Given the description of an element on the screen output the (x, y) to click on. 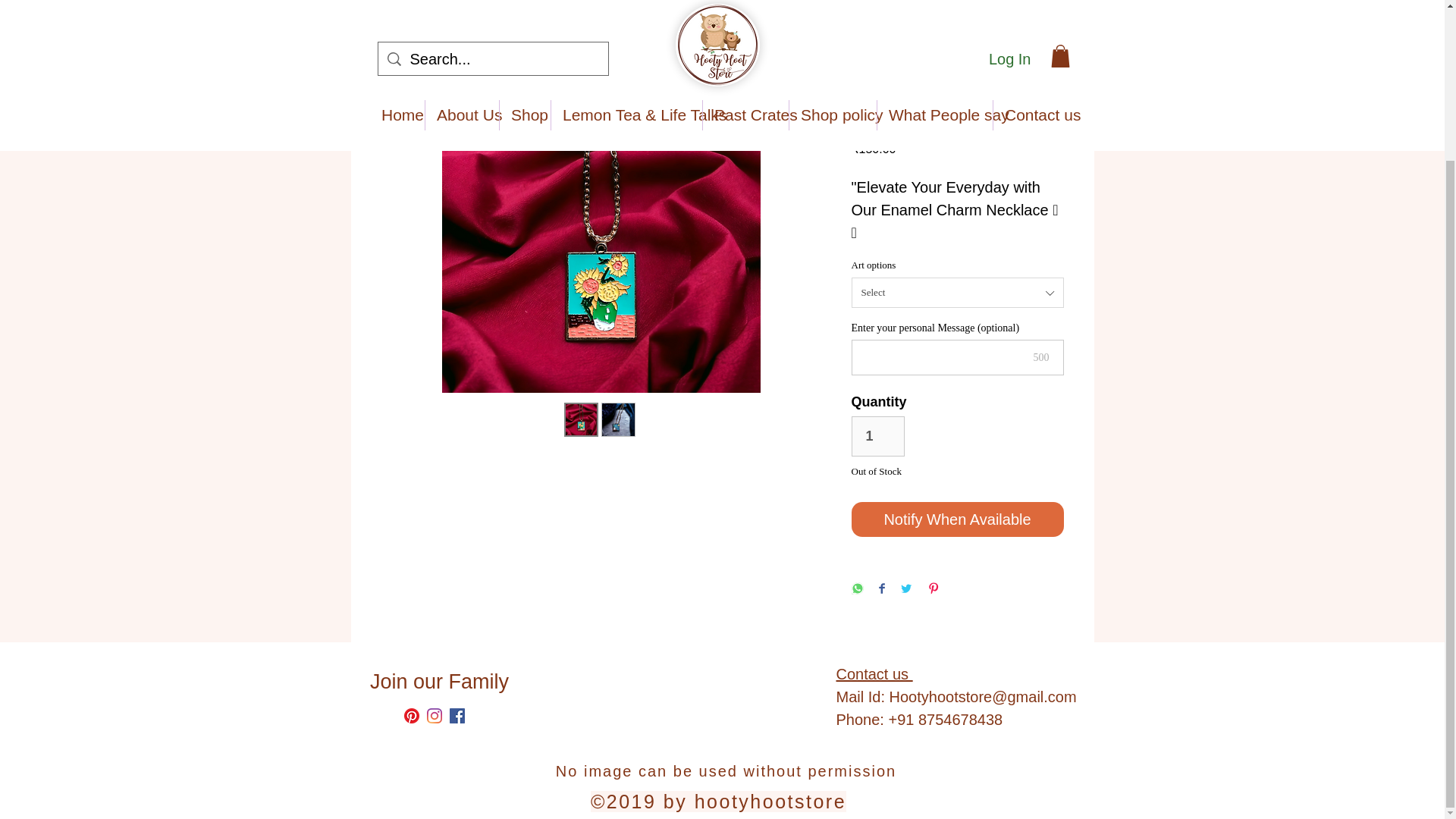
1 (877, 435)
Notify When Available (956, 519)
Select (956, 292)
